Given the description of an element on the screen output the (x, y) to click on. 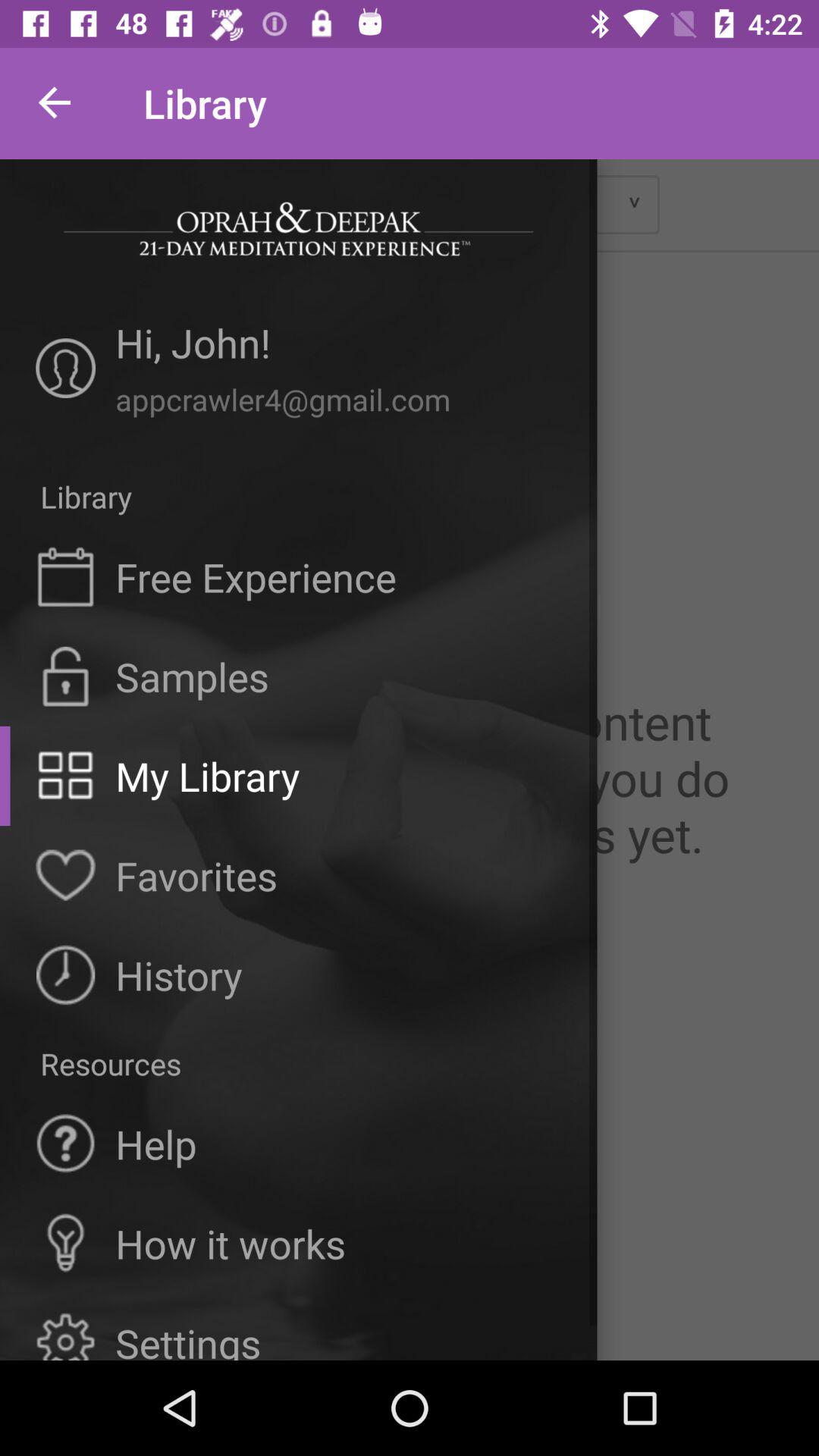
scroll to settings icon (188, 1338)
